Given the description of an element on the screen output the (x, y) to click on. 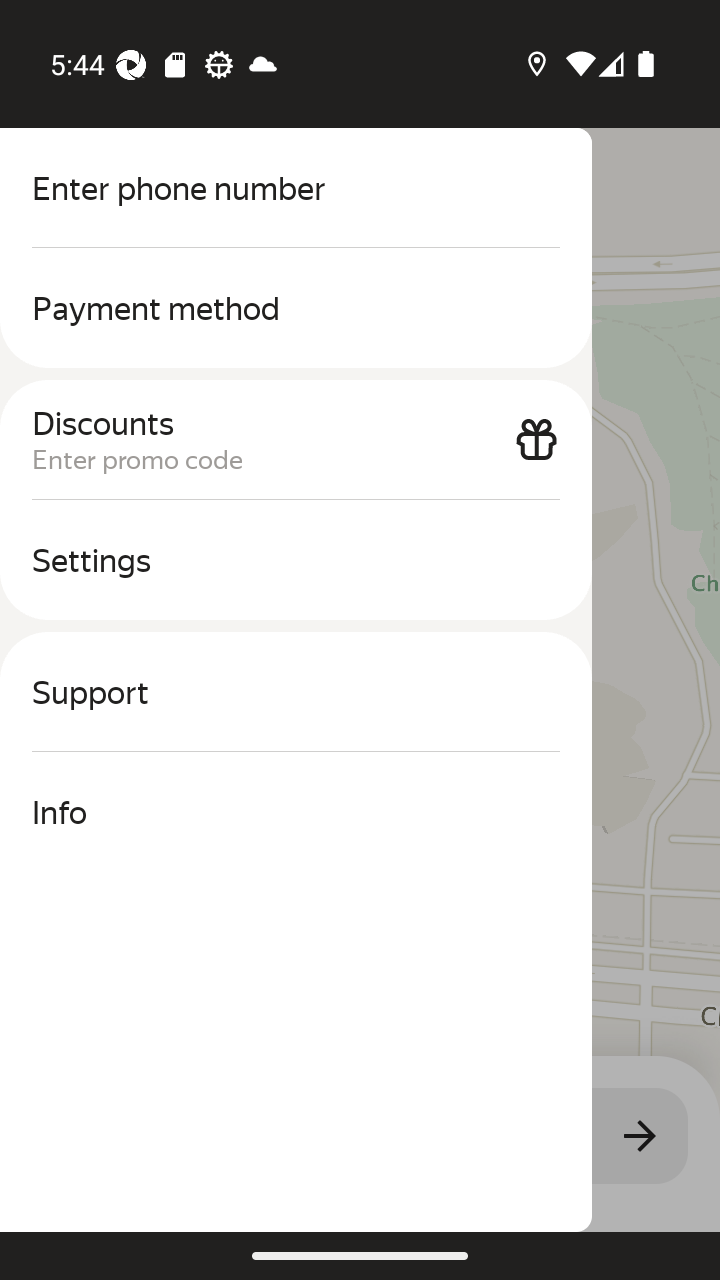
Enter phone number (295, 188)
Payment method (295, 308)
Settings (295, 559)
Support (295, 692)
Info (295, 811)
